Given the description of an element on the screen output the (x, y) to click on. 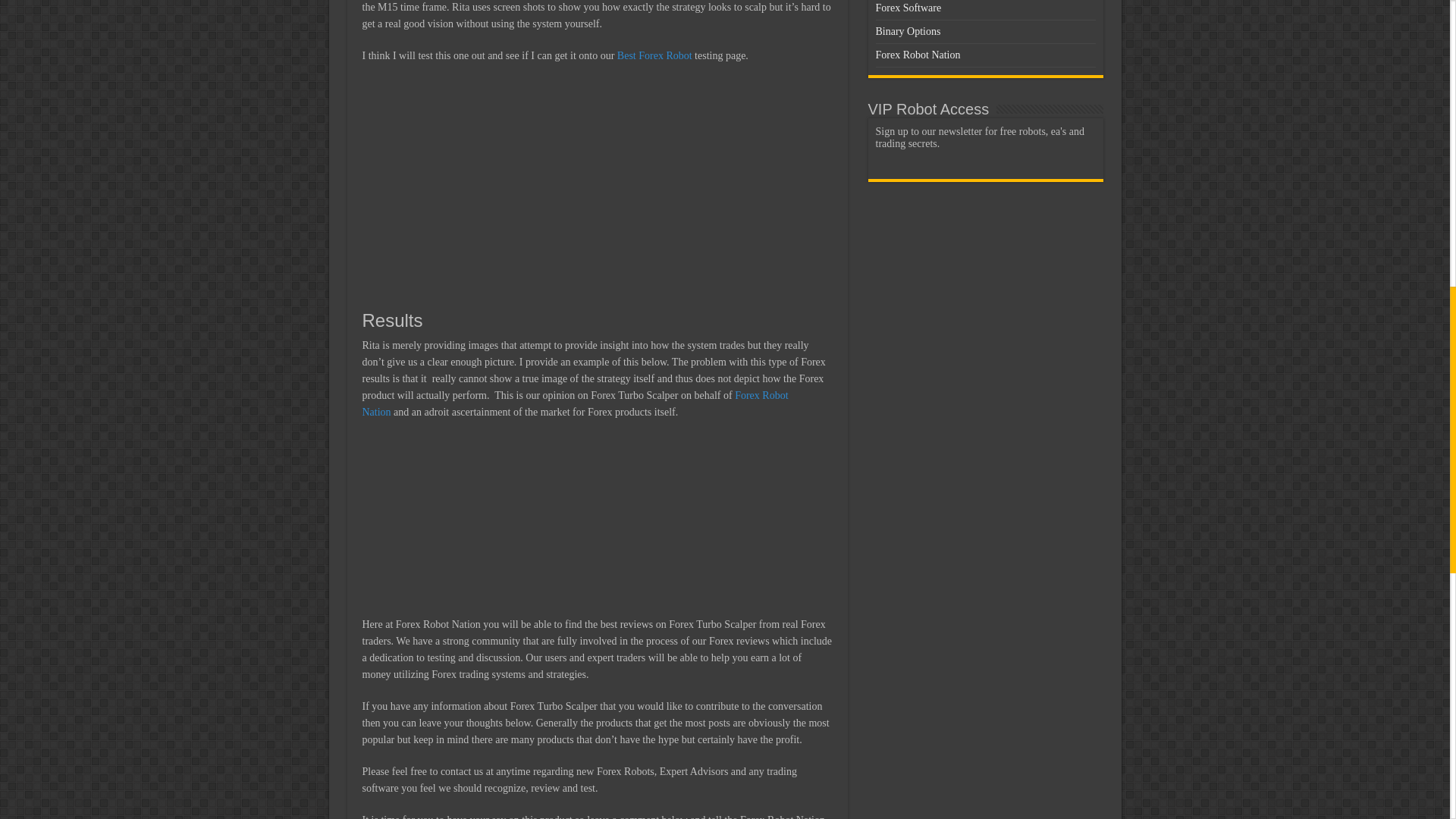
Best Forex Robot (655, 55)
The main properties of the scalper (597, 185)
Forex Robot Nation (575, 403)
